Given the description of an element on the screen output the (x, y) to click on. 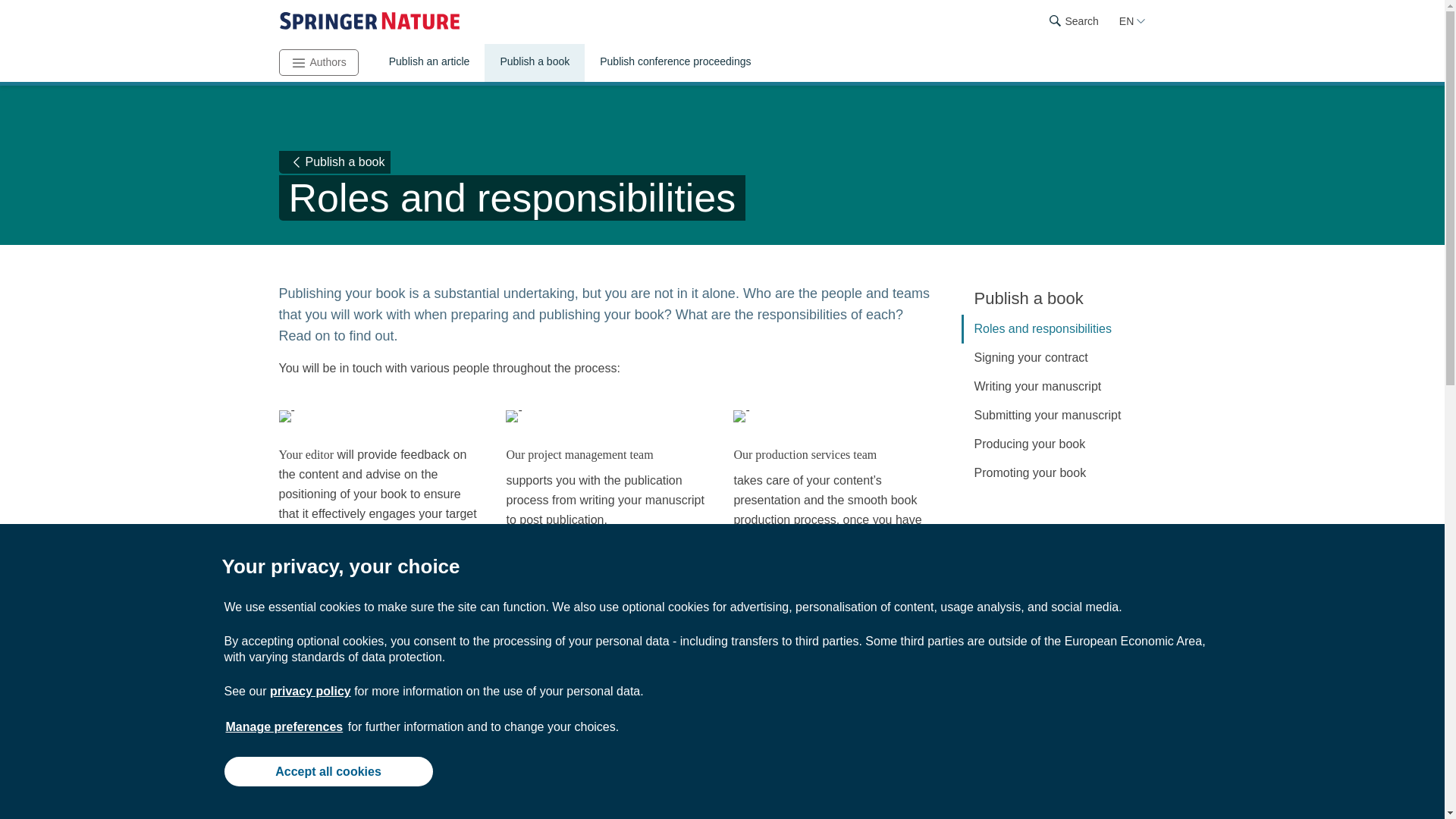
Translation services (836, 779)
Accept all cookies (328, 771)
privacy policy (309, 690)
Authors (318, 62)
Customer support (608, 779)
Publish a book (534, 62)
Publish an article (429, 62)
Book author services (1063, 779)
Springer Nature (369, 20)
Open access books (381, 779)
Manage preferences (284, 726)
